Given the description of an element on the screen output the (x, y) to click on. 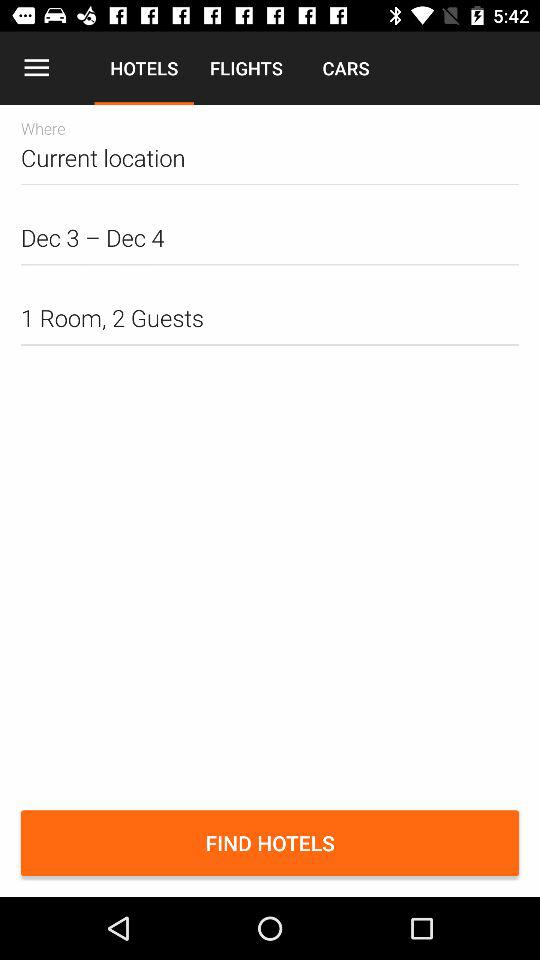
launch the item above the where item (36, 68)
